Given the description of an element on the screen output the (x, y) to click on. 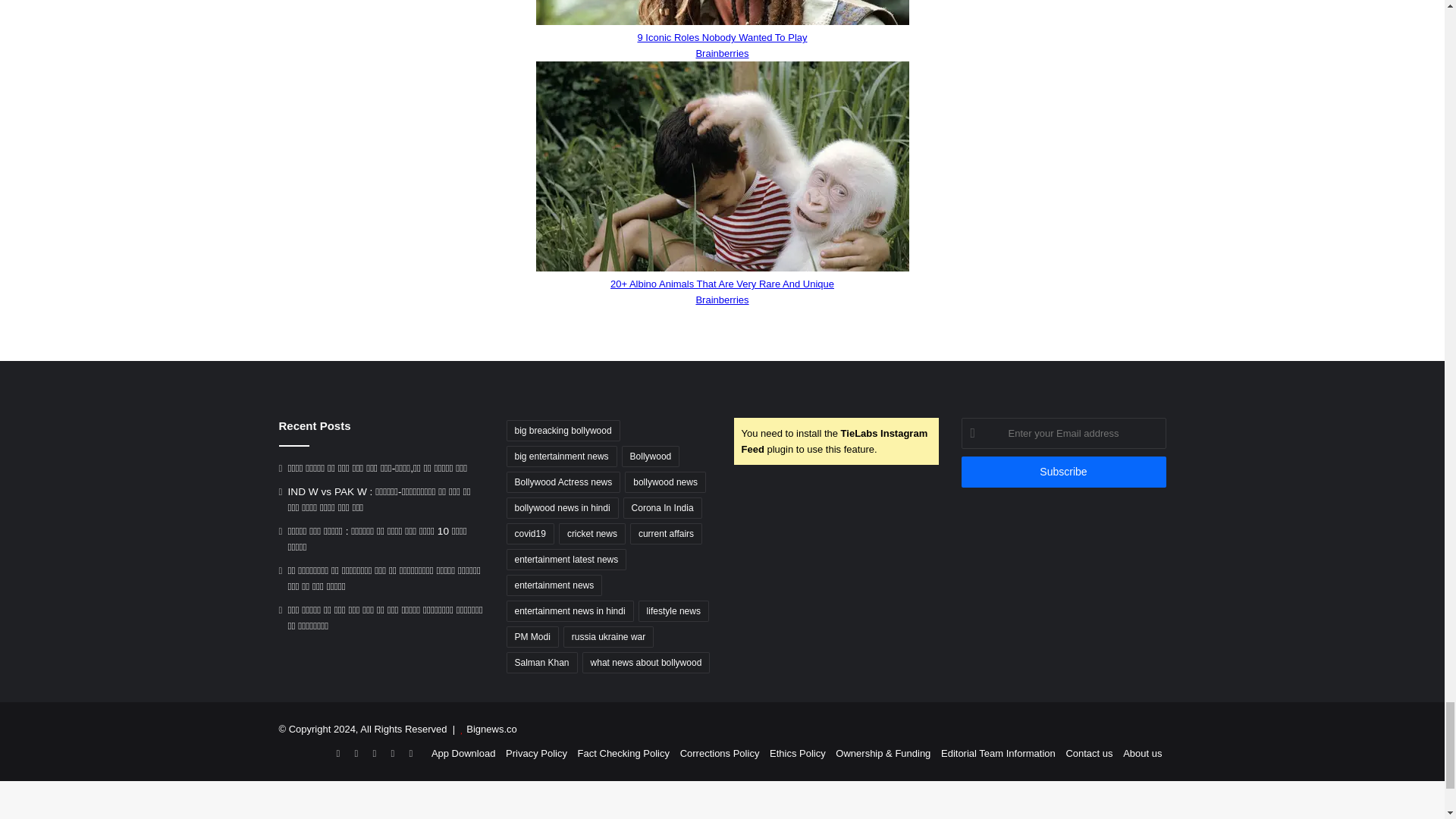
Subscribe (1063, 471)
